Given the description of an element on the screen output the (x, y) to click on. 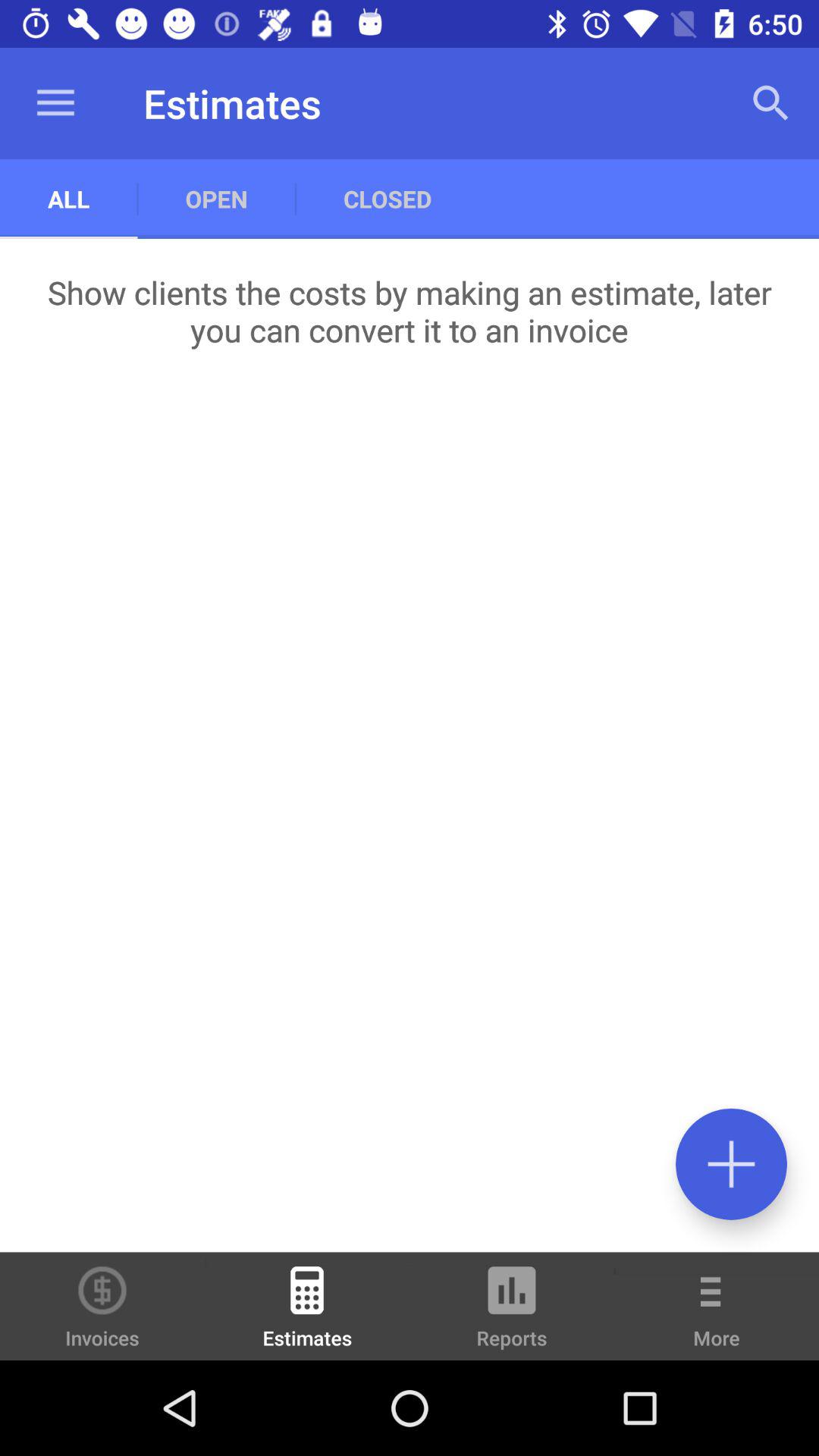
scroll until the all icon (68, 198)
